Given the description of an element on the screen output the (x, y) to click on. 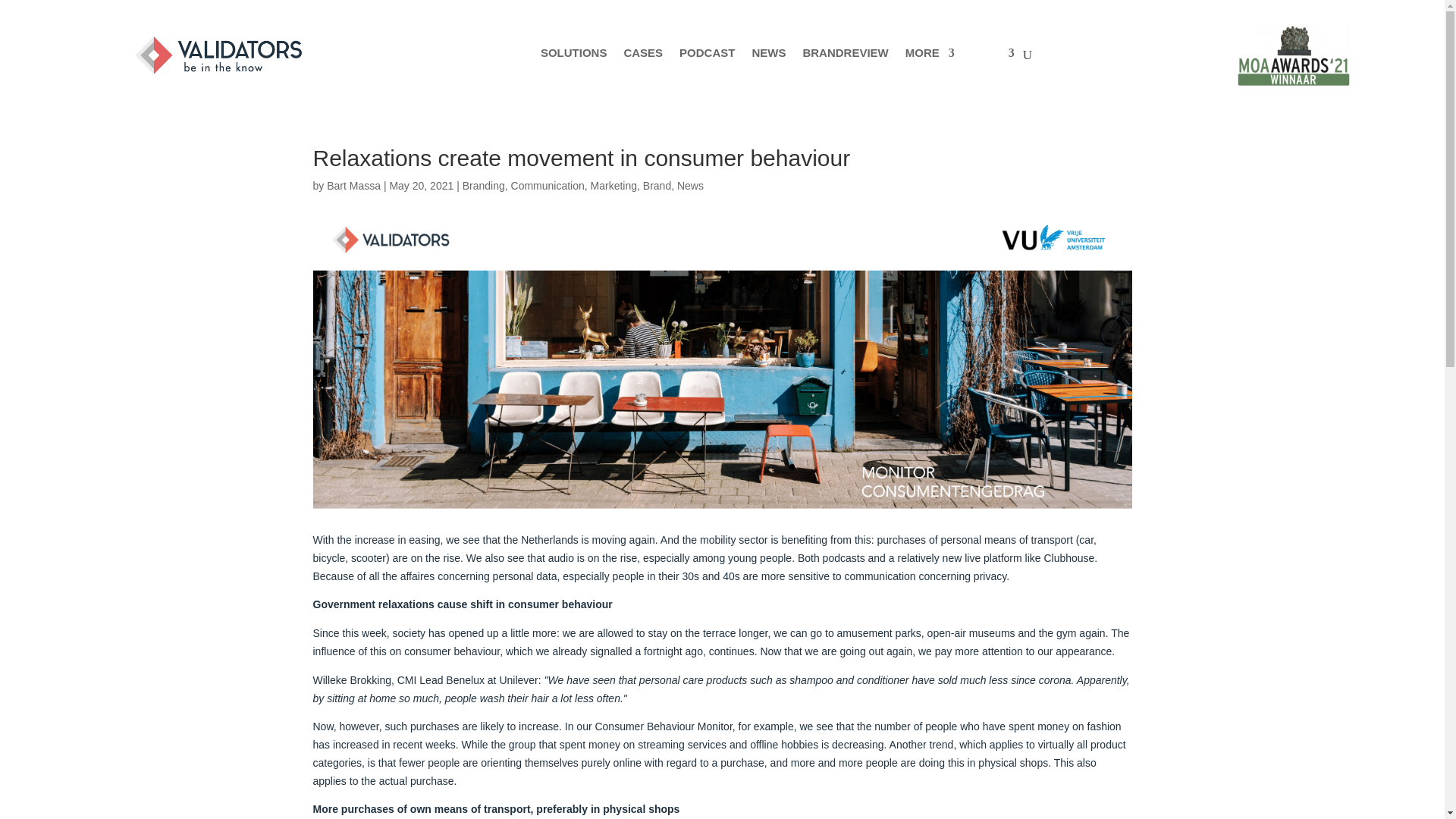
Bart Massa (353, 185)
English (992, 57)
Posts by Bart Massa (353, 185)
Branding (484, 185)
PODCAST (707, 57)
Winnaar (1293, 55)
CASES (642, 57)
MORE (930, 57)
Communication (548, 185)
Marketing (614, 185)
BRANDREVIEW (845, 57)
News (690, 185)
SOLUTIONS (573, 57)
Brand (657, 185)
